Given the description of an element on the screen output the (x, y) to click on. 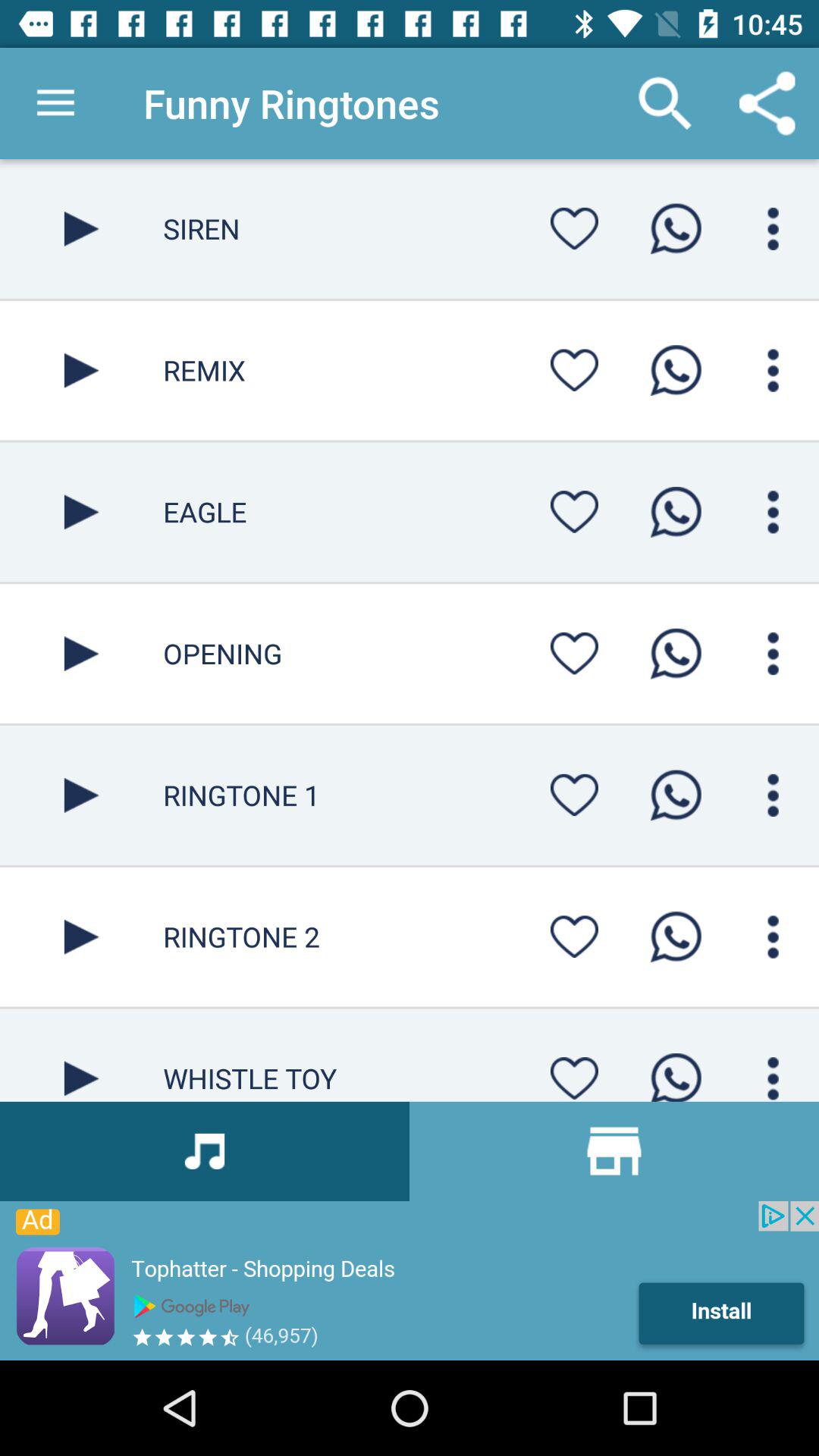
play the song (81, 228)
